Given the description of an element on the screen output the (x, y) to click on. 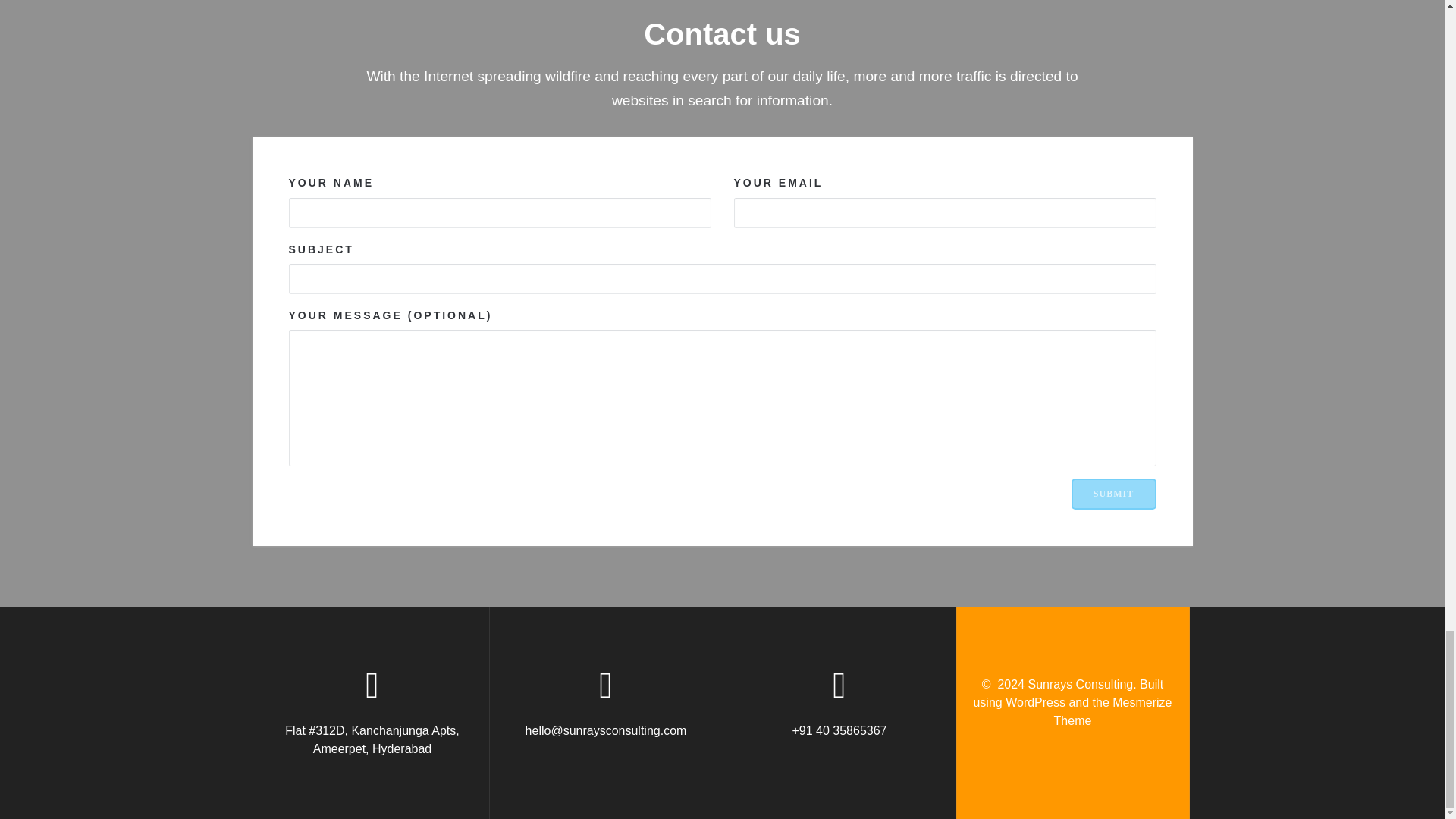
Submit (1113, 493)
Submit (1113, 493)
Mesmerize Theme (1113, 711)
